Given the description of an element on the screen output the (x, y) to click on. 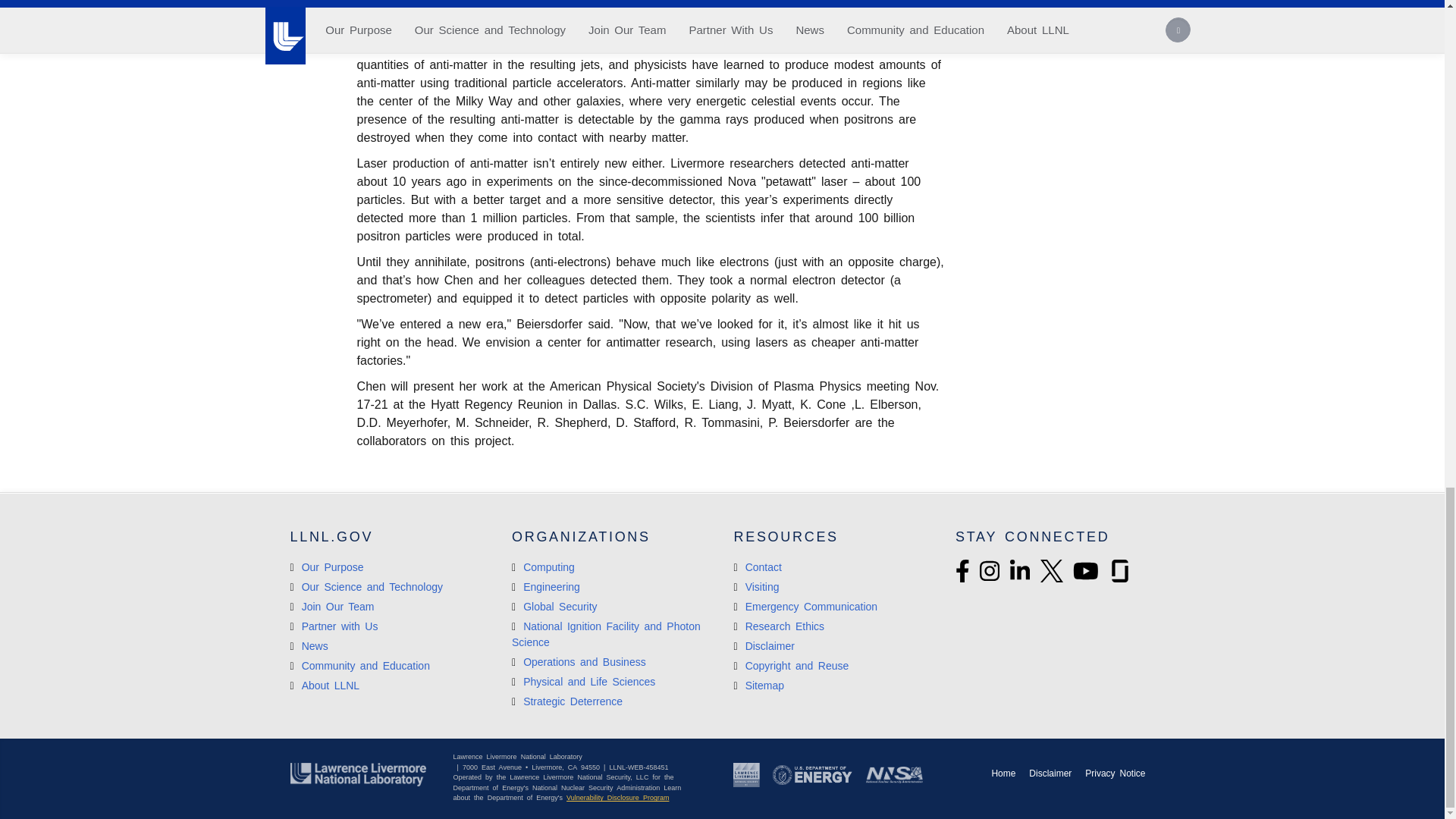
Partner with Us (333, 625)
Community and Education (359, 665)
Global Security (554, 606)
Physical and Life Sciences (583, 681)
Computation (543, 567)
Our Purpose (325, 567)
News (308, 645)
Careers (331, 606)
About (324, 685)
Computation (579, 662)
